Given the description of an element on the screen output the (x, y) to click on. 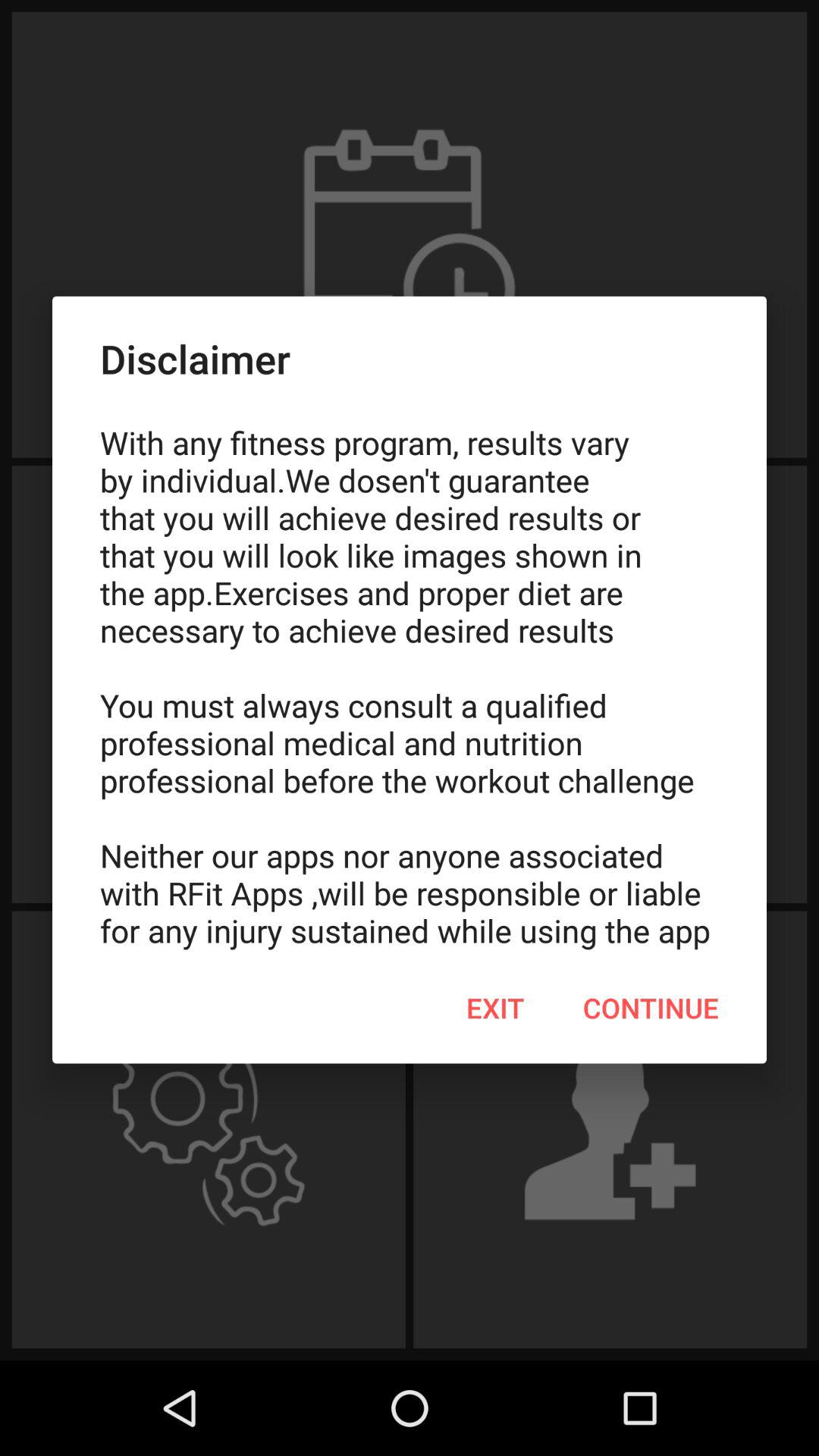
open the continue item (650, 1007)
